Given the description of an element on the screen output the (x, y) to click on. 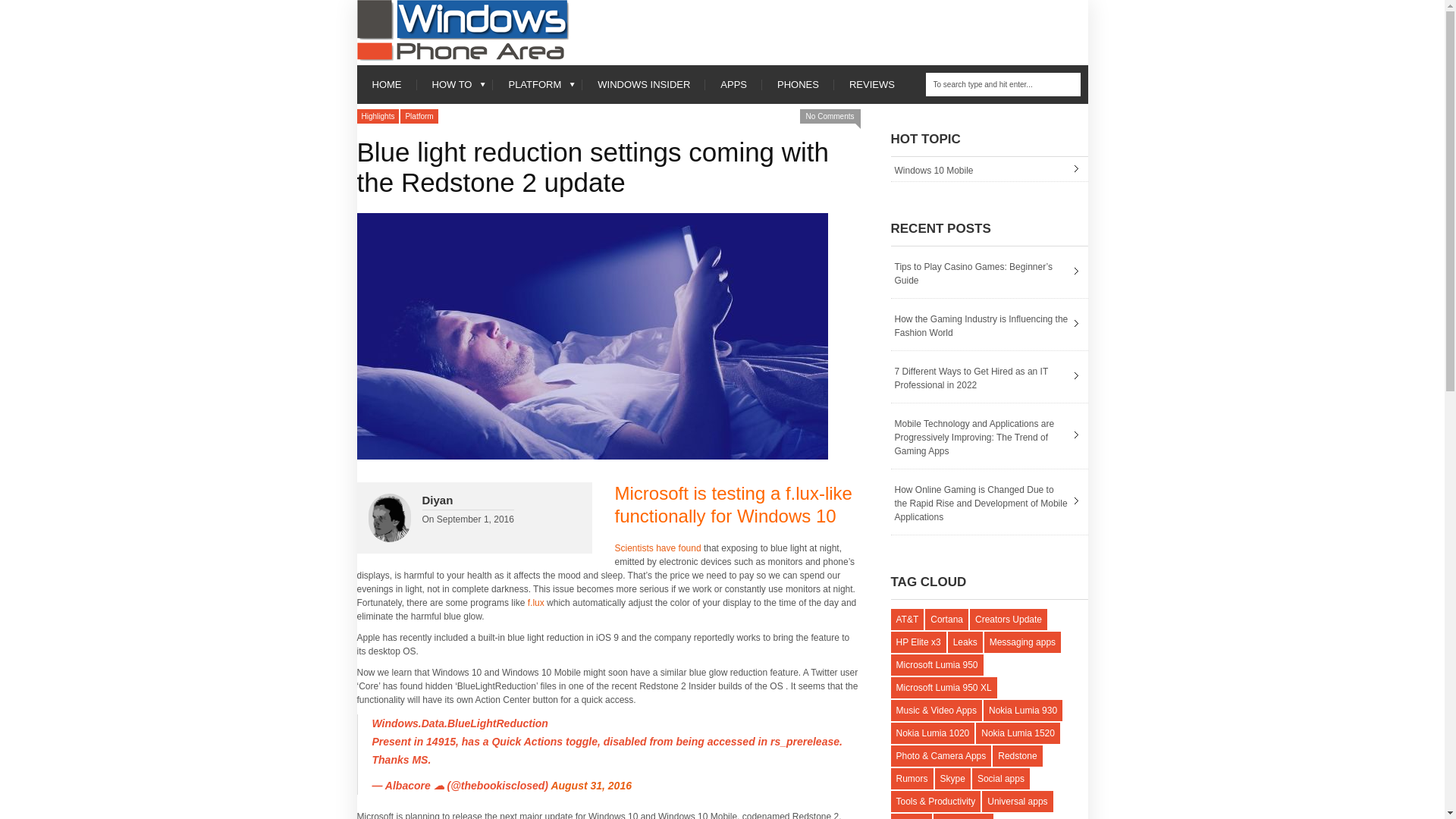
To search type and hit enter... (1002, 84)
Scientists have found (657, 547)
Platform (419, 115)
REVIEWS (872, 84)
WINDOWS INSIDER (643, 84)
No Comments (829, 115)
Diyan (437, 499)
HOME (386, 84)
Highlights (377, 115)
APPS (732, 84)
